Given the description of an element on the screen output the (x, y) to click on. 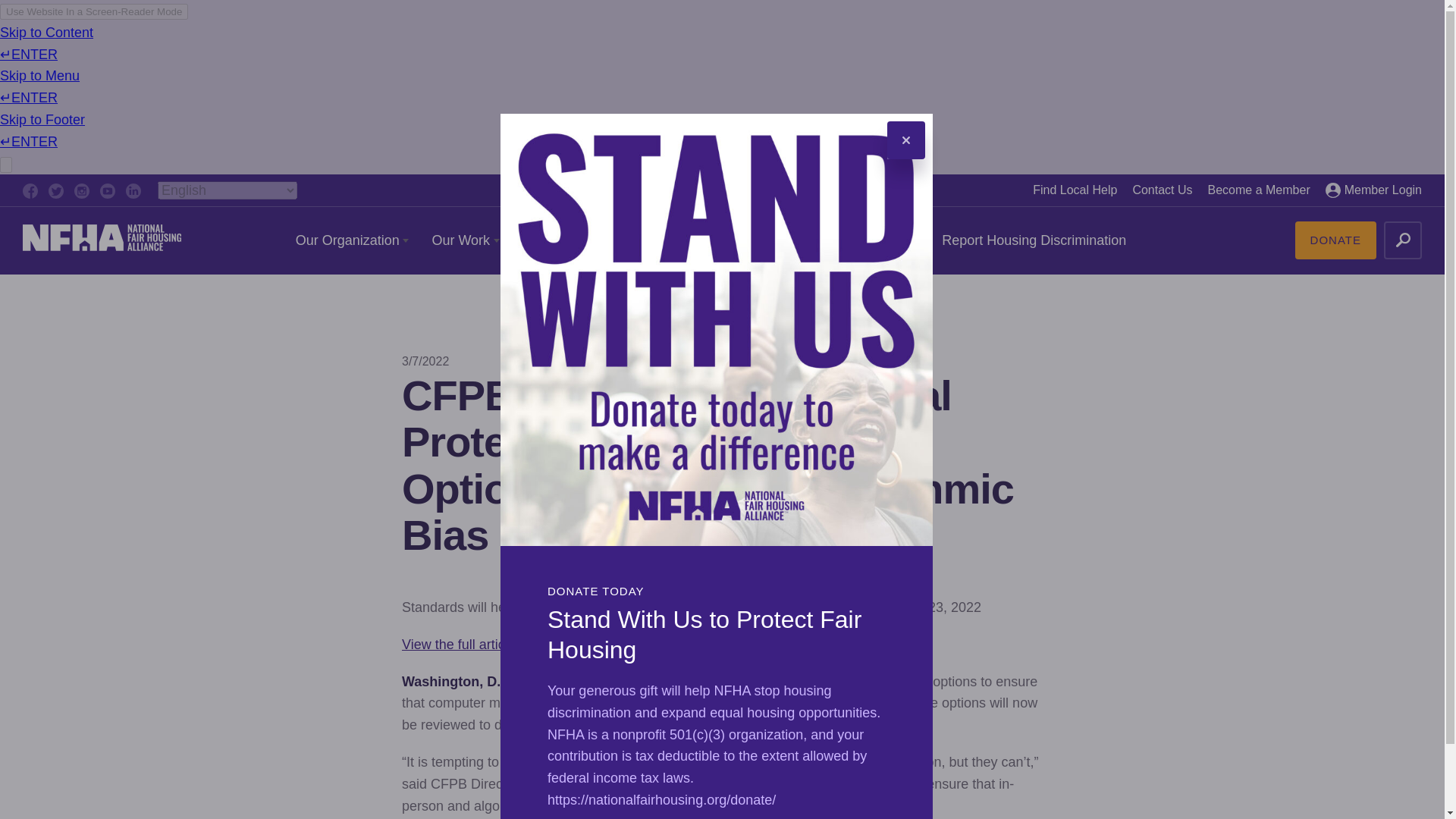
Our Organization (352, 240)
Resources (559, 240)
Our Work (464, 240)
